Given the description of an element on the screen output the (x, y) to click on. 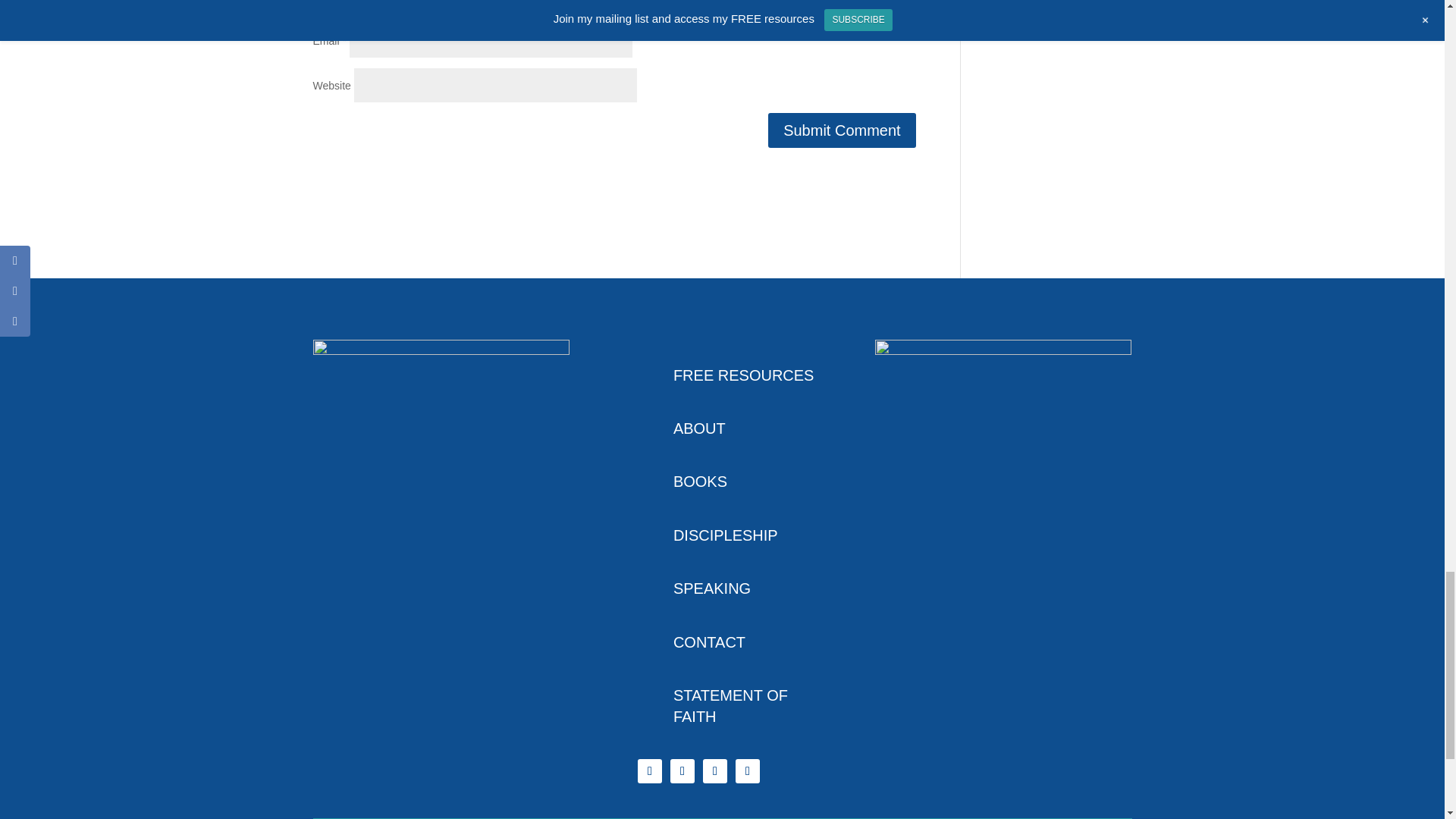
Submit Comment (841, 130)
Submit Comment (841, 130)
Follow on Facebook (649, 770)
Follow on LinkedIn (747, 770)
Follow on Instagram (681, 770)
ABOUT (698, 428)
Follow on Youtube (714, 770)
DISCIPLESHIP (724, 535)
FREE RESOURCES (742, 375)
BOOKS (699, 481)
SPEAKING (711, 588)
